Given the description of an element on the screen output the (x, y) to click on. 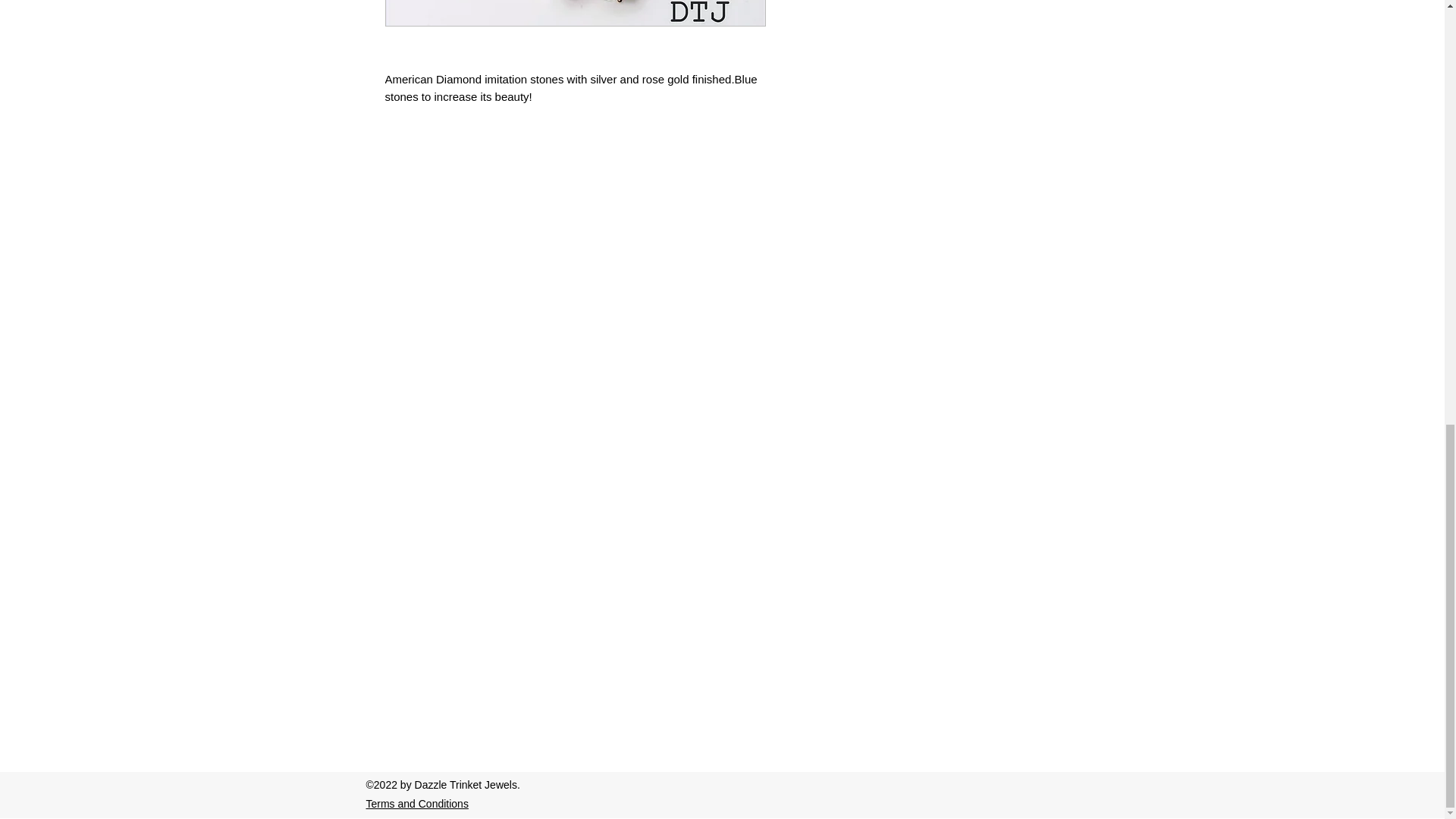
Terms and Conditions (416, 803)
